Given the description of an element on the screen output the (x, y) to click on. 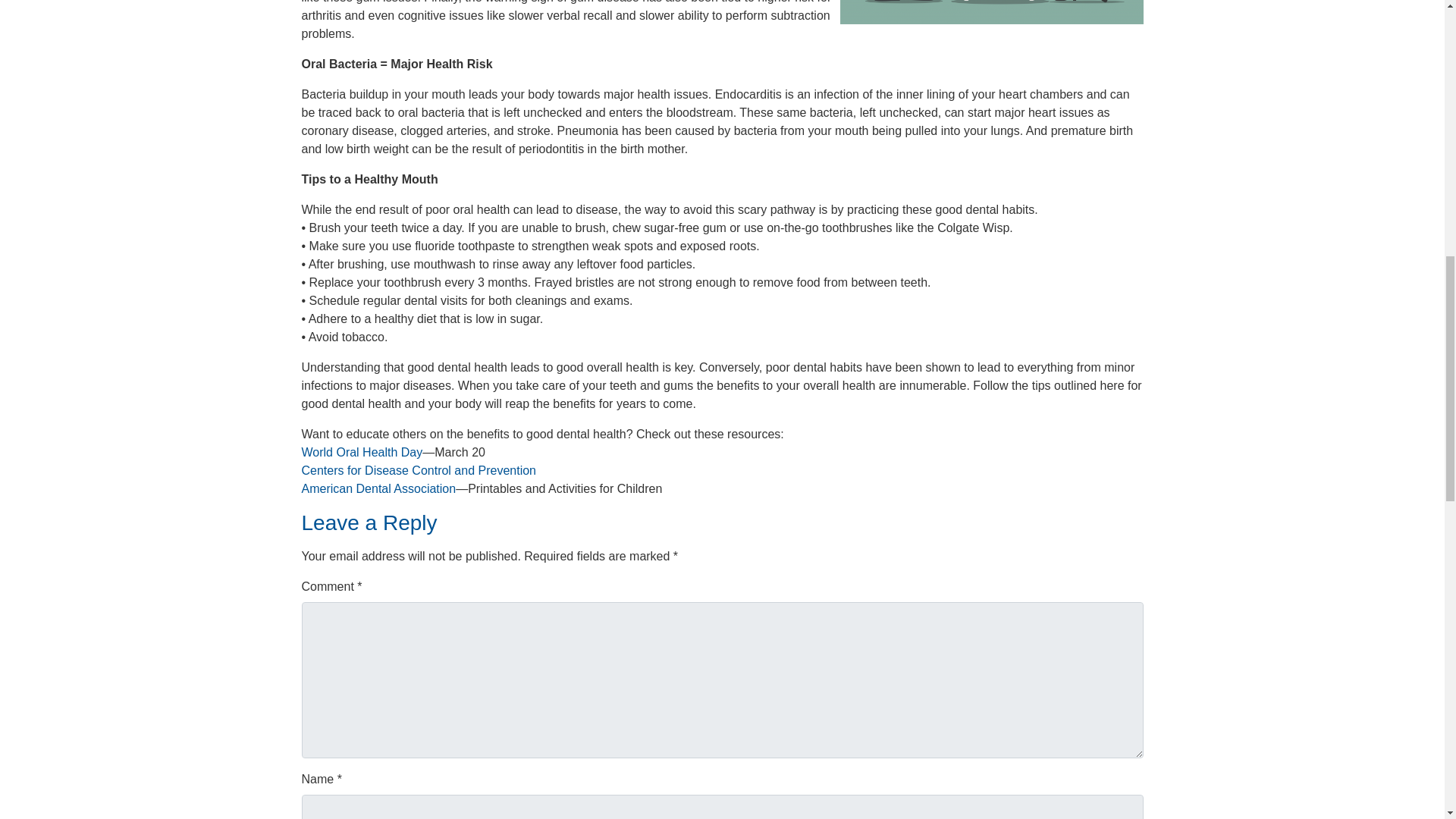
American Dental Association (379, 488)
Centers for Disease Control and Prevention (419, 470)
World Oral Health Day (362, 451)
